Given the description of an element on the screen output the (x, y) to click on. 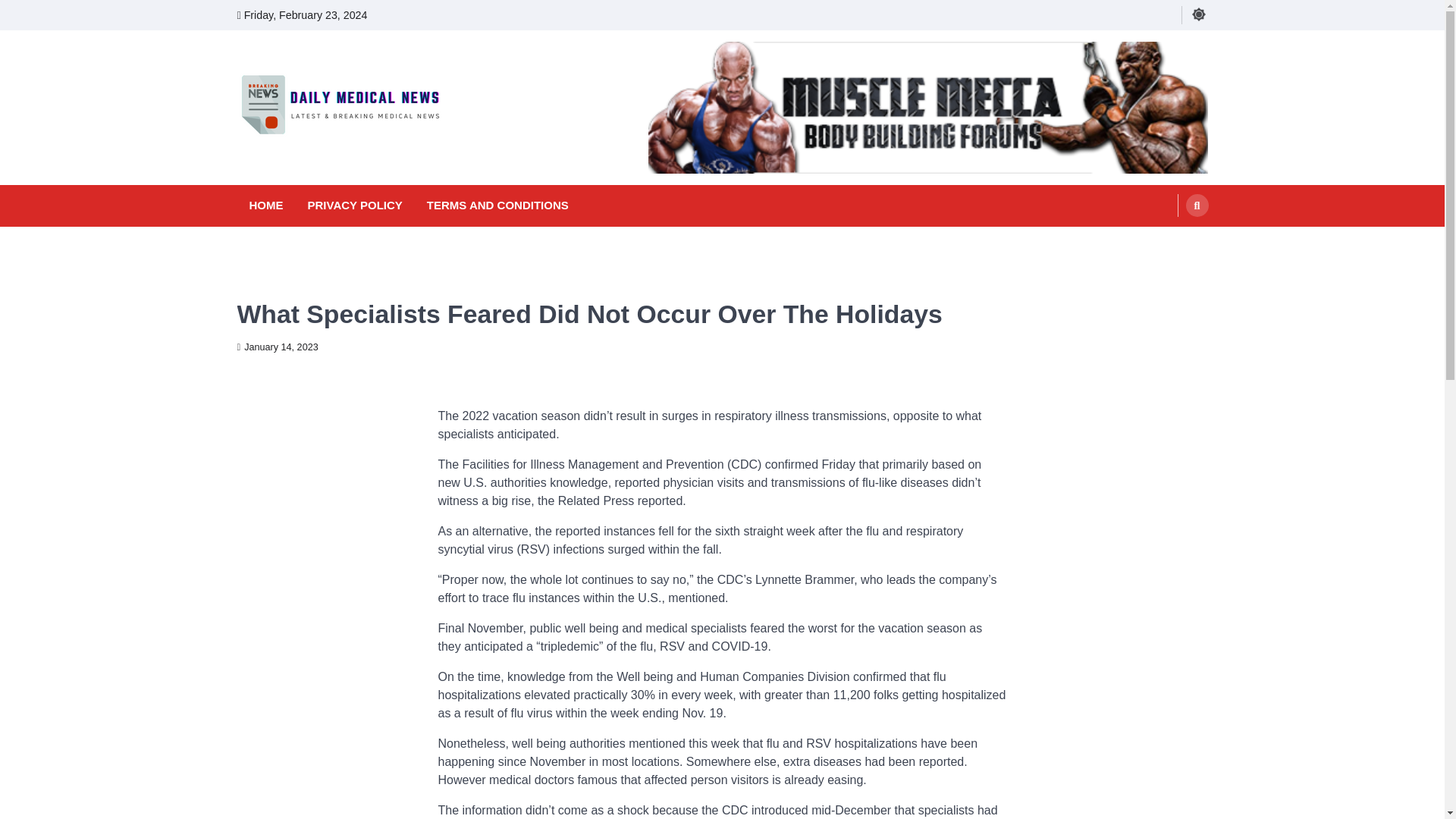
MEDICAL NEWS (273, 285)
HOME (265, 205)
January 14, 2023 (276, 347)
PRIVACY POLICY (355, 205)
Search (1197, 205)
Search (1168, 240)
TERMS AND CONDITIONS (497, 205)
Daily Medical News (344, 159)
